Given the description of an element on the screen output the (x, y) to click on. 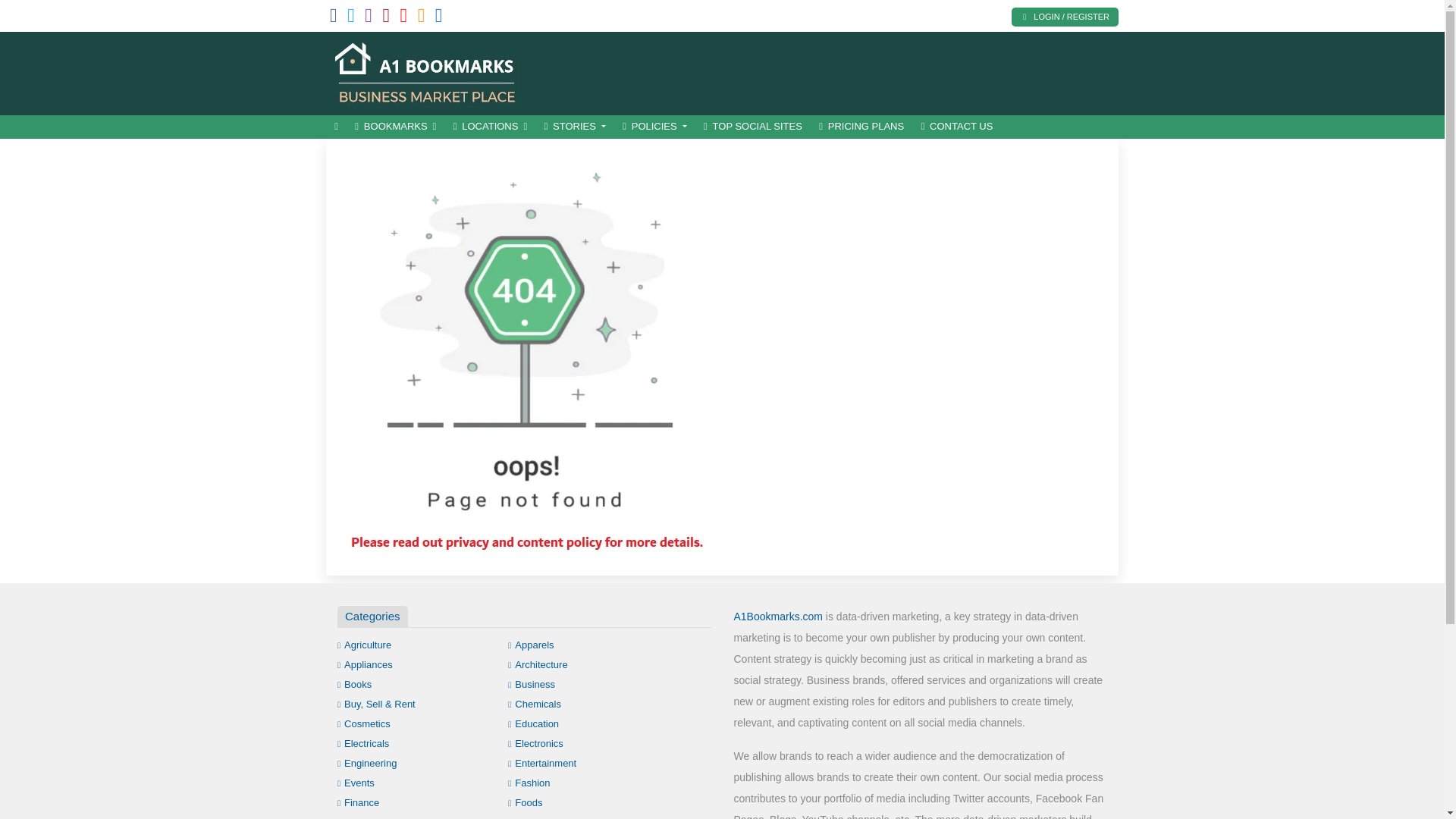
LOCATIONS (490, 126)
Effective Social Tool to Market Your Product and Services (428, 71)
BOOKMARKS (395, 126)
